Given the description of an element on the screen output the (x, y) to click on. 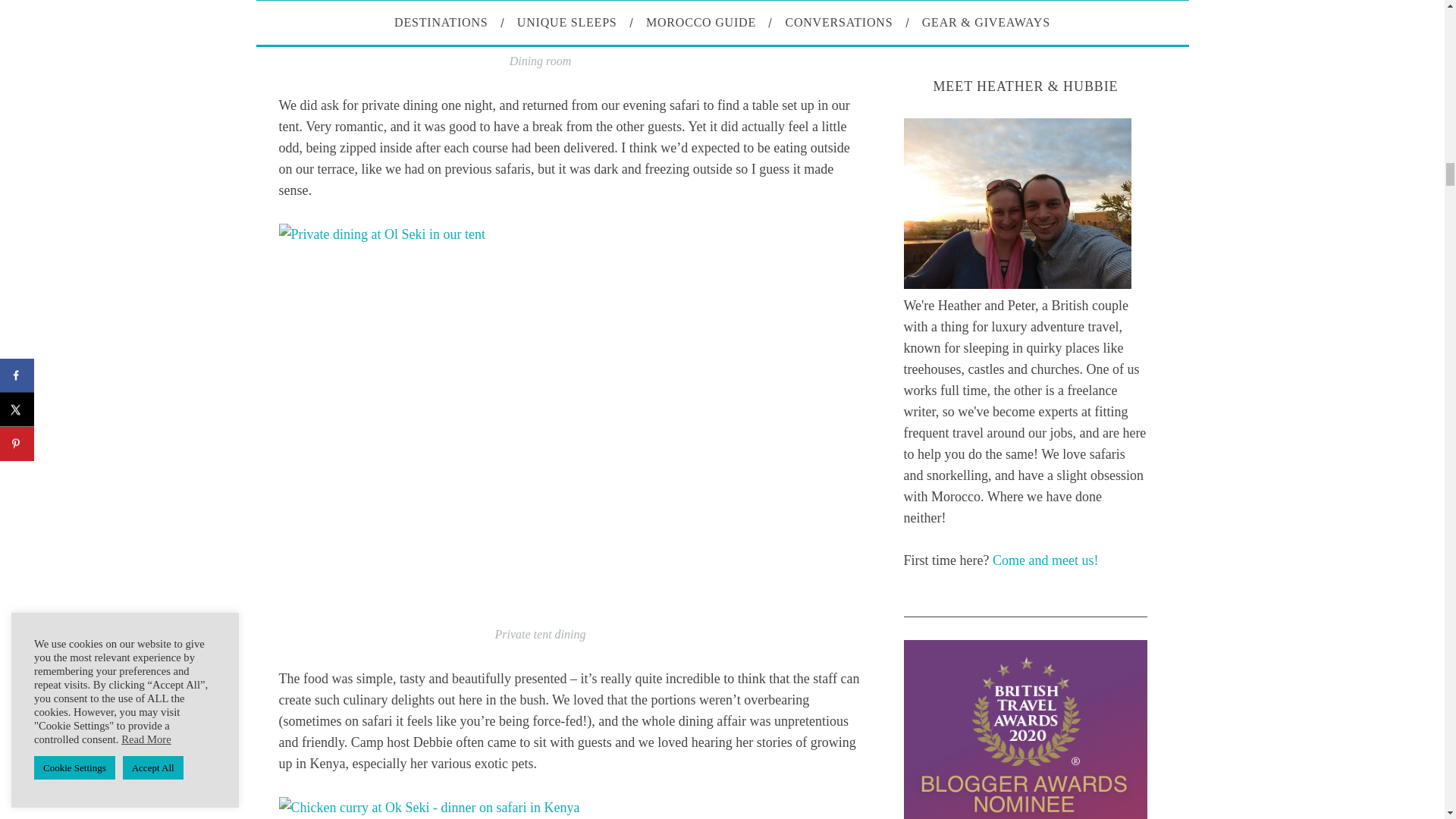
Chicken curry at Ok Seki - dinner on safari in Kenya (540, 807)
